Given the description of an element on the screen output the (x, y) to click on. 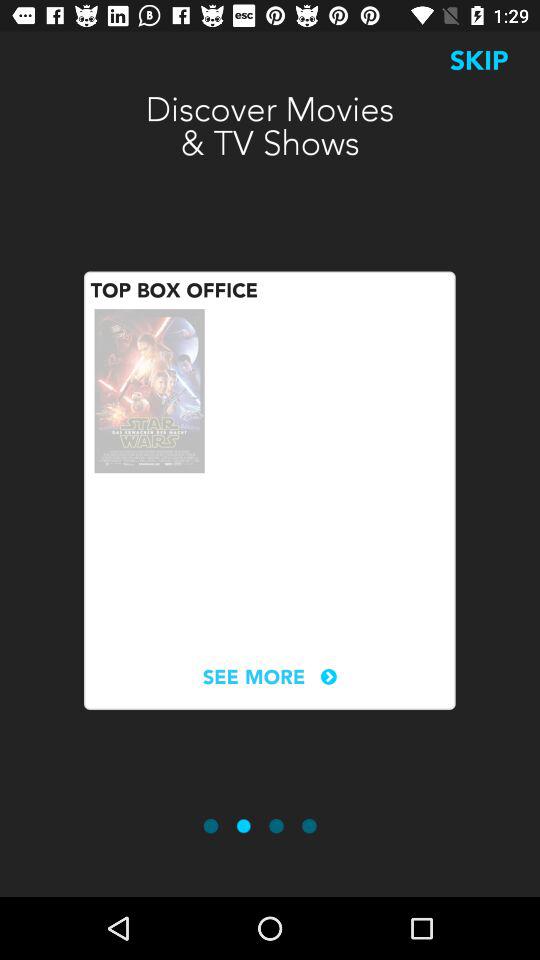
click the icon to the right of the discover movies tv (479, 60)
